Given the description of an element on the screen output the (x, y) to click on. 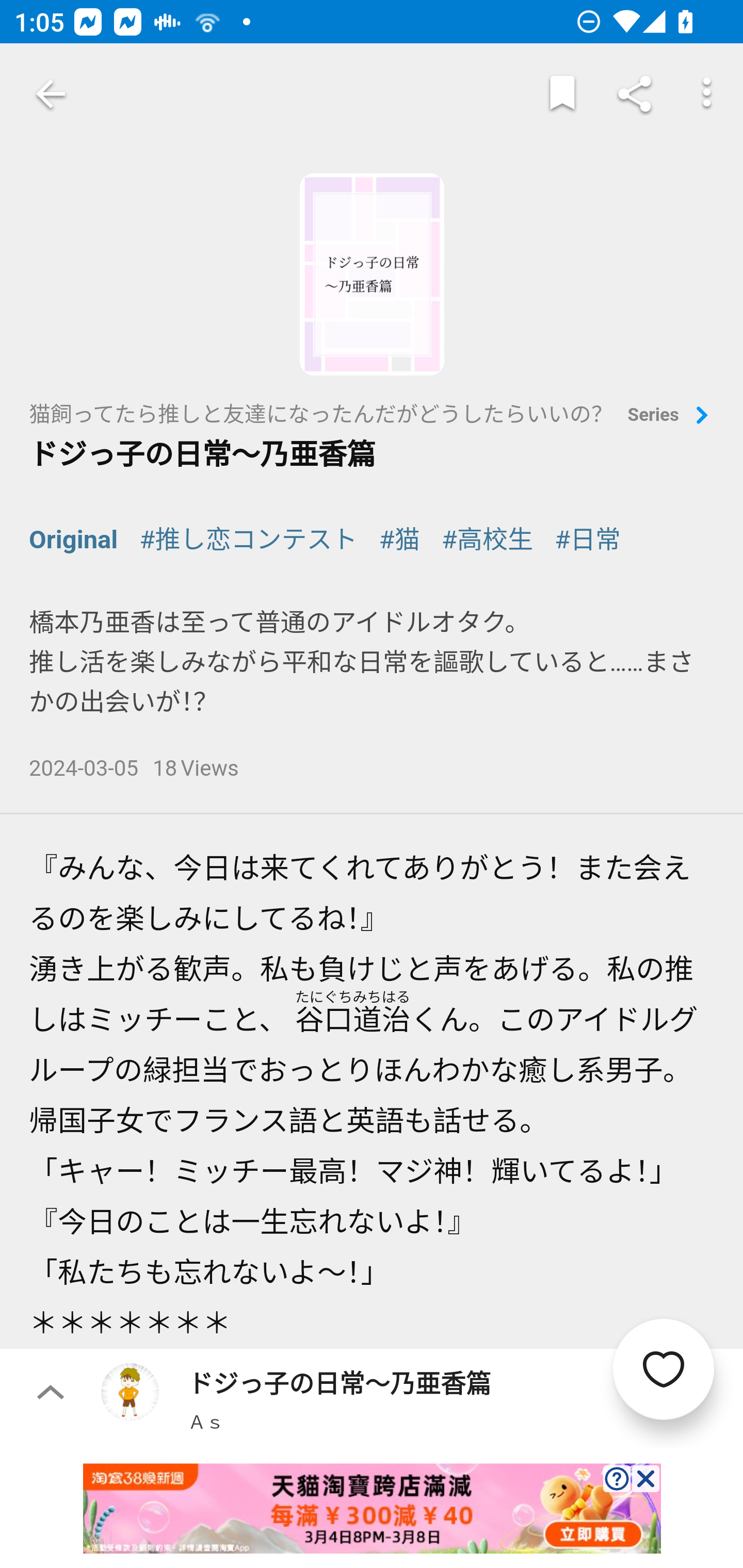
Navigate up (50, 93)
Markers (562, 93)
Share (634, 93)
More options (706, 93)
Series (671, 416)
Original (73, 539)
#推し恋コンテスト (248, 539)
#猫 (398, 539)
#高校生 (487, 539)
#日常 (587, 539)
Ａｓ (205, 1421)
pvdv44x_1709289450738_0 (371, 1507)
